Given the description of an element on the screen output the (x, y) to click on. 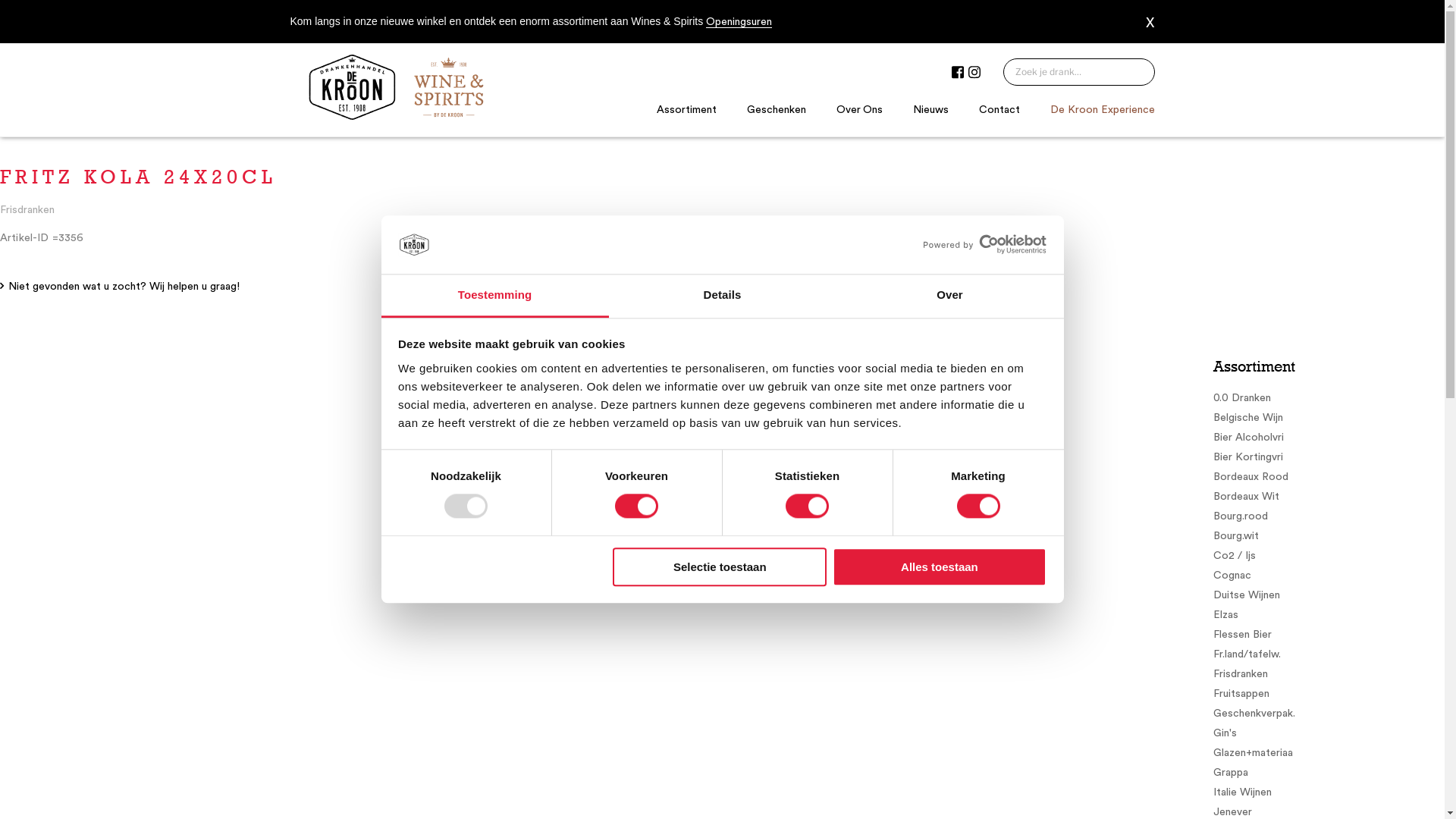
Over Element type: text (949, 295)
Bordeaux Rood Element type: text (1328, 477)
Details Element type: text (721, 295)
Elzas Element type: text (1328, 615)
De Kroon Experience Element type: text (1102, 109)
Nieuws Element type: text (930, 109)
Bier Alcoholvri Element type: text (1328, 437)
Grappa Element type: text (1328, 773)
Over Ons Element type: text (859, 109)
Geschenken Element type: text (776, 109)
Alles toestaan Element type: text (939, 566)
Bourg.rood Element type: text (1328, 516)
Assortiment Element type: text (686, 109)
Belgische Wijn Element type: text (1328, 418)
Selectie toestaan Element type: text (719, 566)
Gin's Element type: text (1328, 733)
De Kroon Element type: hover (395, 124)
Contact Element type: text (999, 109)
Bordeaux Wit Element type: text (1328, 497)
Co2 / Ijs Element type: text (1328, 556)
Niet gevonden wat u zocht? Wij helpen u graag! Element type: text (119, 286)
Geschenkverpak. Element type: text (1328, 713)
Glazen+materiaa Element type: text (1328, 753)
0.0 Dranken Element type: text (1328, 398)
Cognac Element type: text (1328, 575)
Flessen Bier Element type: text (1328, 635)
Bier Kortingvri Element type: text (1328, 457)
Bourg.wit Element type: text (1328, 536)
Fruitsappen Element type: text (1328, 694)
Openingsuren Element type: text (738, 21)
Frisdranken Element type: text (1328, 674)
Duitse Wijnen Element type: text (1328, 595)
Italie Wijnen Element type: text (1328, 792)
Toestemming Element type: text (494, 295)
instagram Element type: hover (973, 73)
Fr.land/tafelw. Element type: text (1328, 654)
facebook Element type: hover (956, 72)
